Given the description of an element on the screen output the (x, y) to click on. 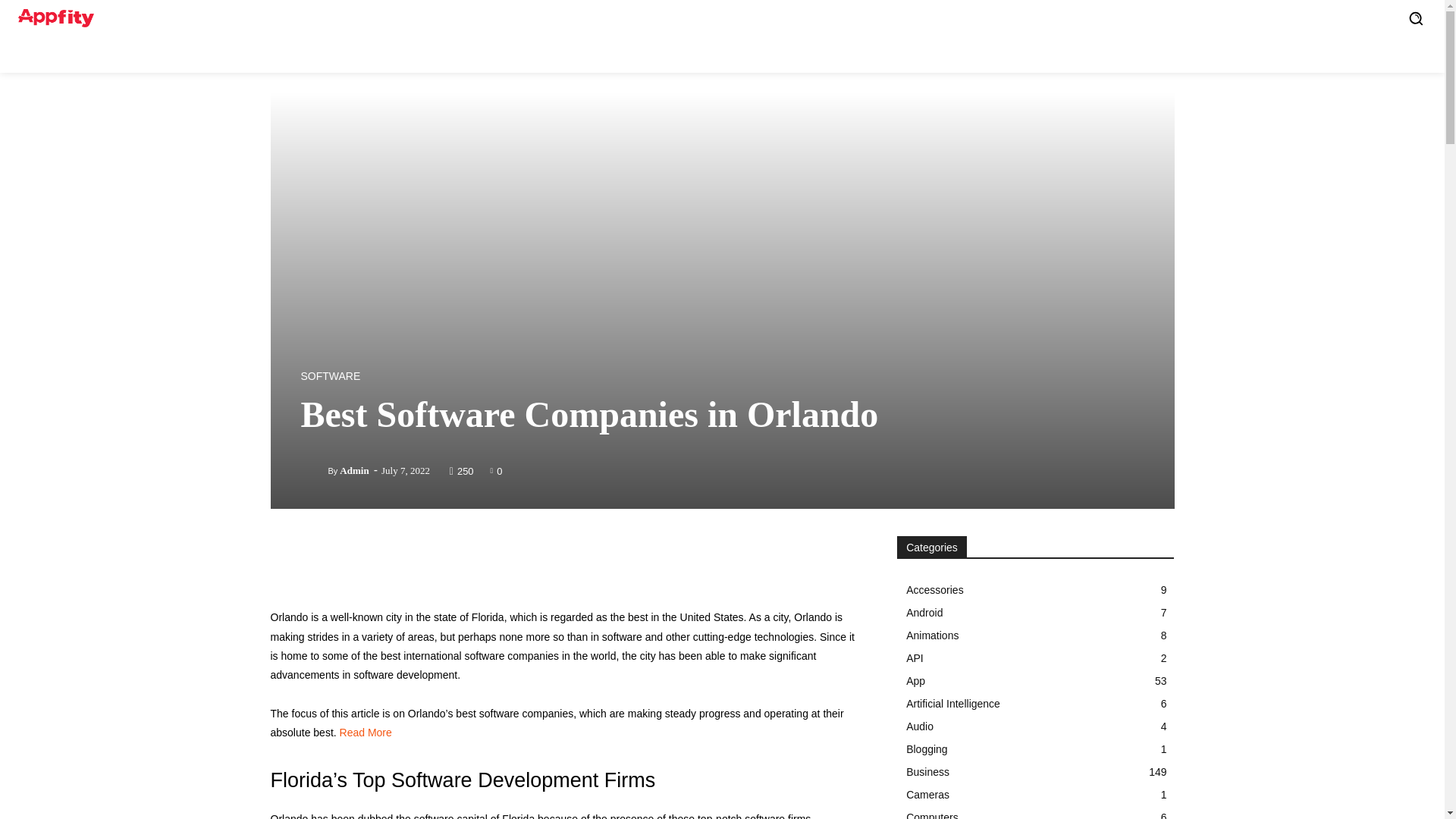
Admin (313, 470)
